Given the description of an element on the screen output the (x, y) to click on. 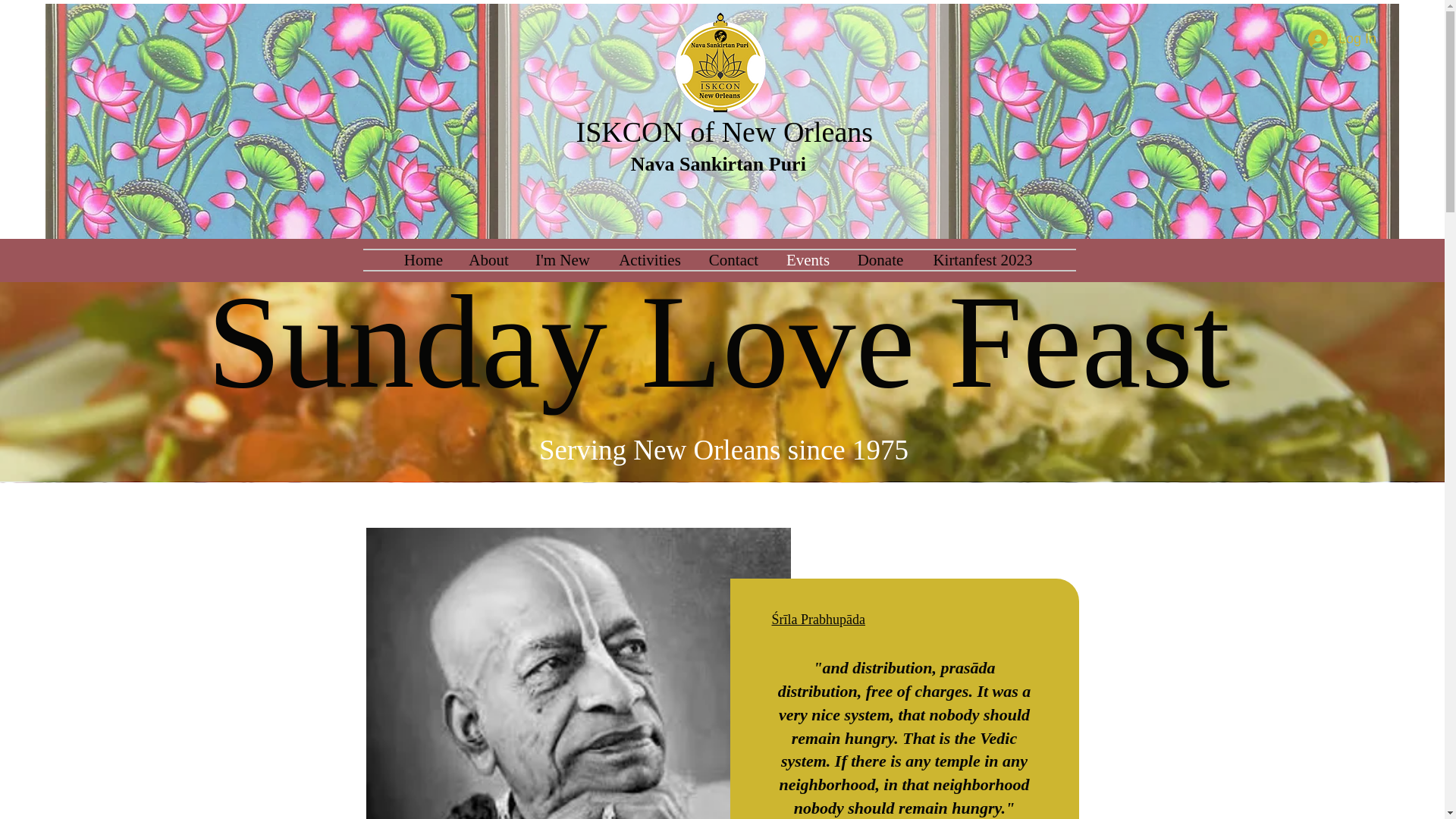
ISKCON of New Orleans (724, 132)
I'm New (561, 260)
Kirtanfest 2023 (982, 260)
Donate (880, 260)
Events (807, 260)
Log In (1342, 39)
Activities (650, 260)
About (488, 260)
Home (423, 260)
Contact (732, 260)
